Given the description of an element on the screen output the (x, y) to click on. 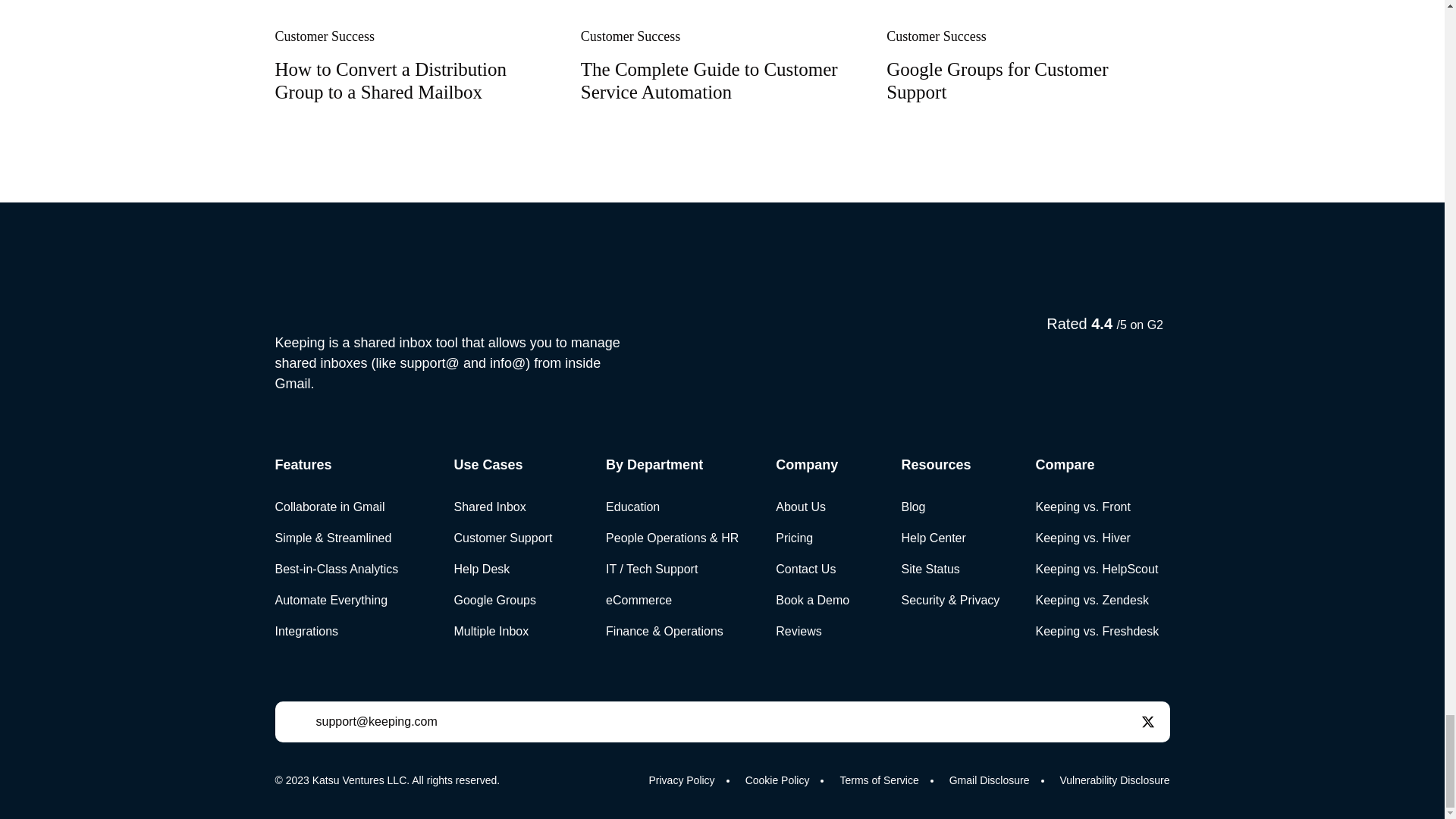
How to Convert a Distribution Group to a Shared Mailbox (390, 80)
